Given the description of an element on the screen output the (x, y) to click on. 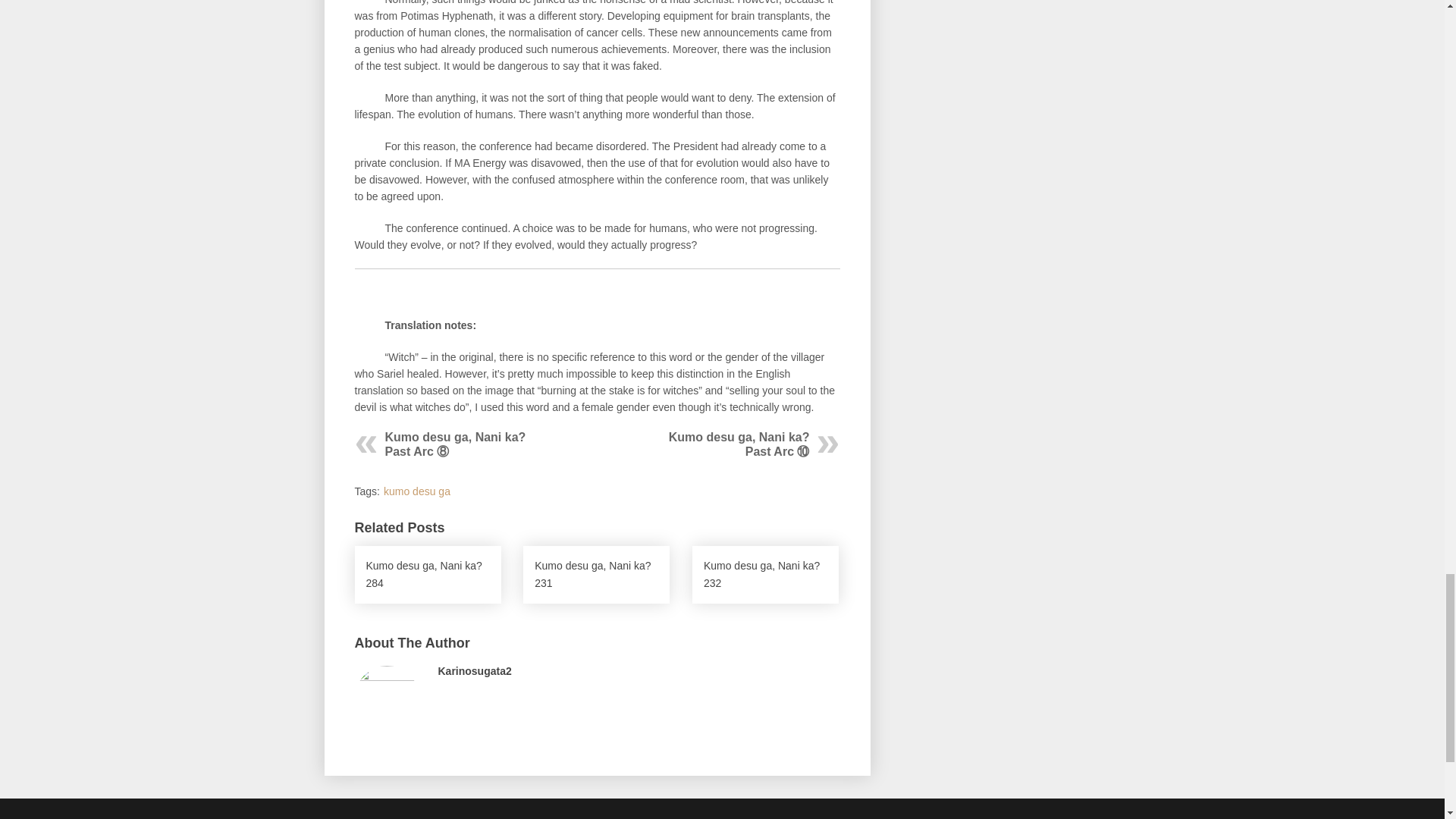
Kumo desu ga, Nani ka? 231 (595, 574)
Kumo desu ga, Nani ka? 232 (765, 574)
Kumo desu ga, Nani ka? 284 (427, 574)
Kumo desu ga, Nani ka? 232 (765, 574)
kumo desu ga (416, 491)
Kumo desu ga, Nani ka? 231 (595, 574)
Kumo desu ga, Nani ka? 284 (427, 574)
